Given the description of an element on the screen output the (x, y) to click on. 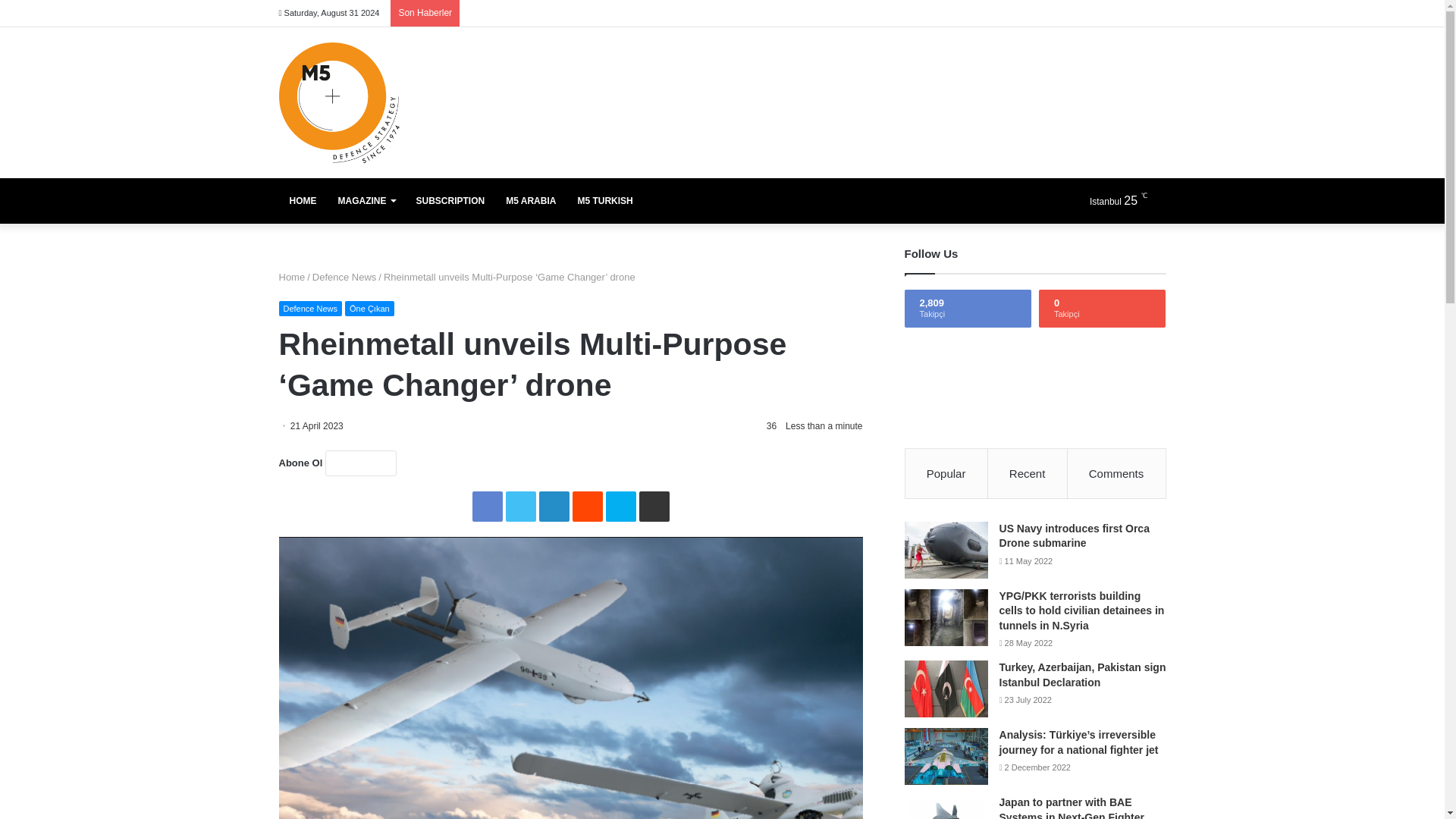
MAGAZINE (366, 200)
Share via Email (653, 506)
SUBSCRIPTION (449, 200)
HOME (303, 200)
Facebook (486, 506)
LinkedIn (553, 506)
Skype (619, 506)
M5 TURKISH (604, 200)
M5 Dergi (338, 102)
Reddit (587, 506)
